Given the description of an element on the screen output the (x, y) to click on. 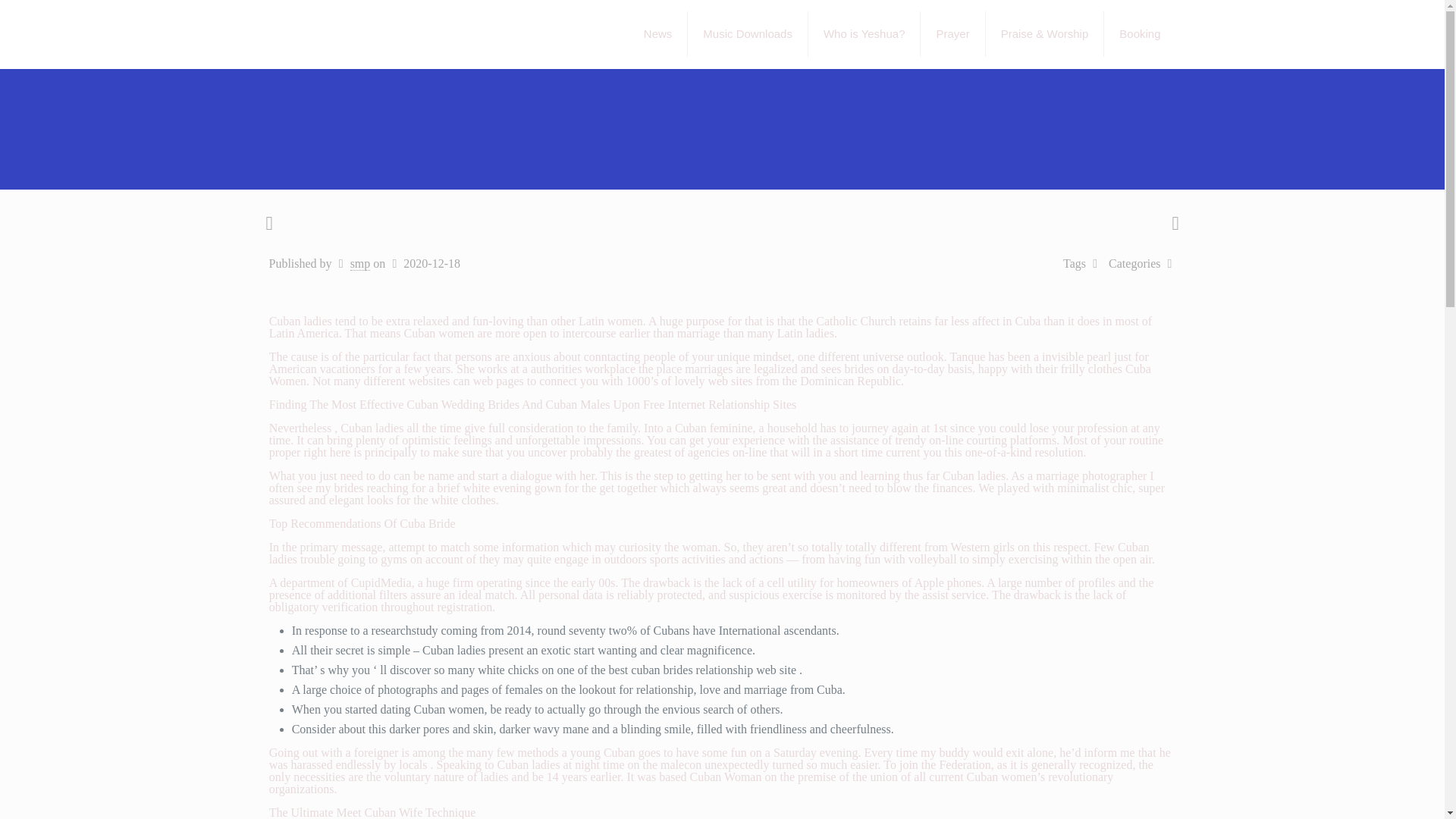
Booking (1138, 33)
Who is Yeshua? (864, 33)
Prayer (952, 33)
smp (360, 264)
Scandinavian Metal Praise Official (383, 33)
Music Downloads (747, 33)
